Given the description of an element on the screen output the (x, y) to click on. 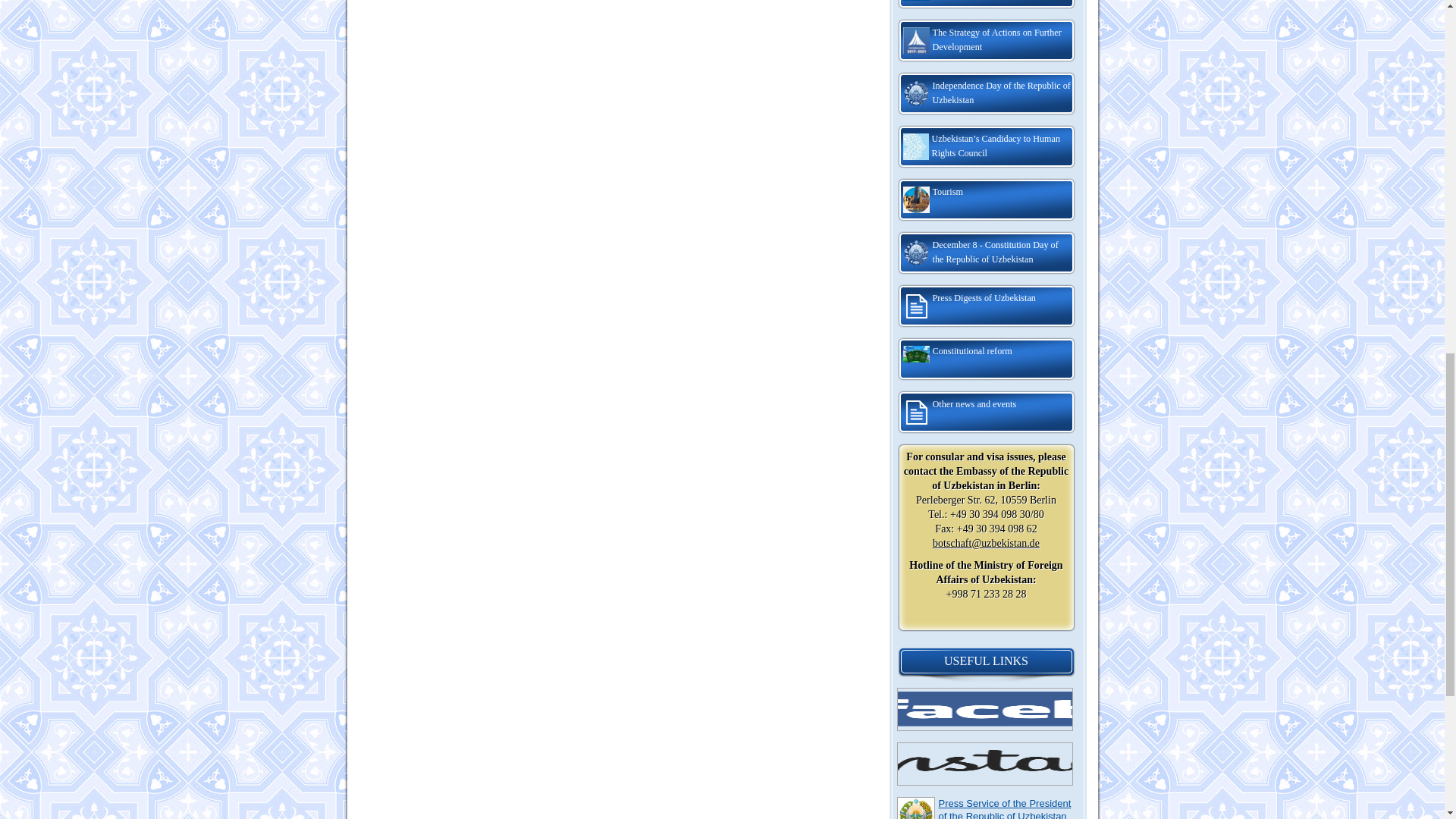
Independence Day of the Republic of Uzbekistan (985, 94)
Press Service of the President of the Republic of Uzbekistan (1005, 808)
Press Digests of Uzbekistan (985, 306)
Mission News (985, 5)
Tourism (985, 199)
The Strategy of Actions on Further Development (985, 40)
December 8 - Constitution Day of the Republic of Uzbekistan (985, 253)
Constitutional reform (985, 359)
Other news and events (985, 411)
